Given the description of an element on the screen output the (x, y) to click on. 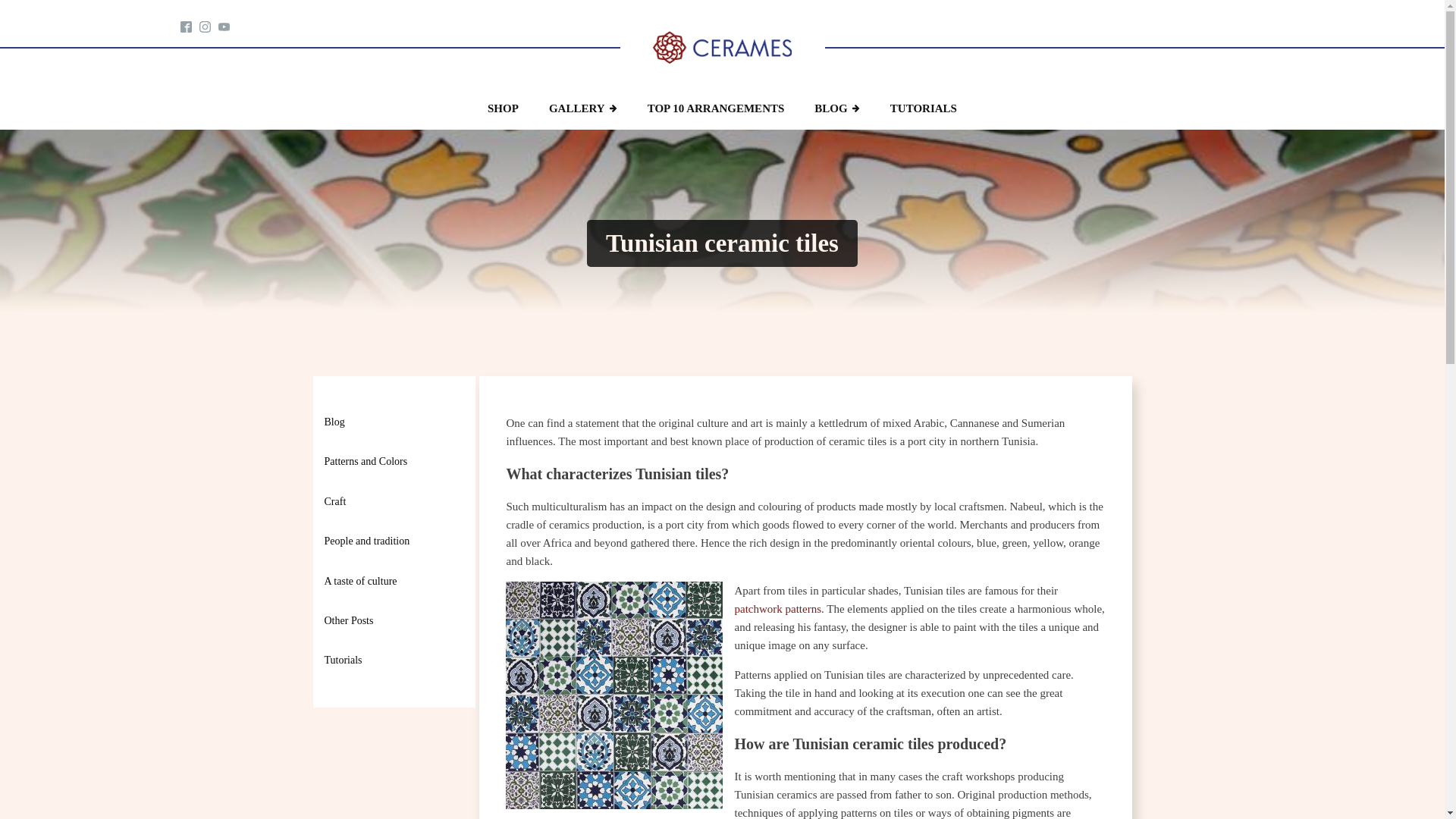
SHOP (502, 108)
GALLERY (582, 108)
